Given the description of an element on the screen output the (x, y) to click on. 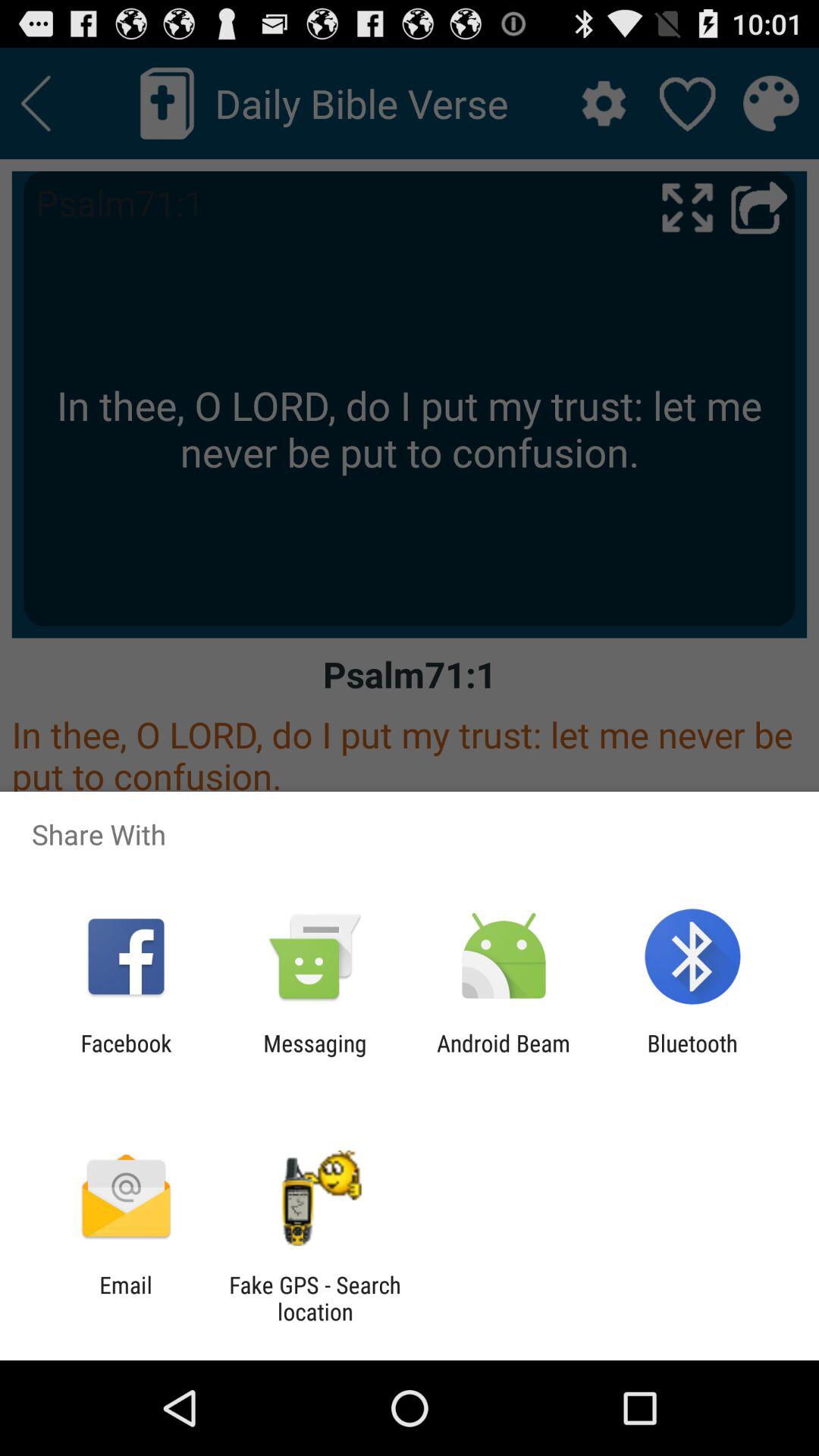
press the icon next to the android beam app (692, 1056)
